Given the description of an element on the screen output the (x, y) to click on. 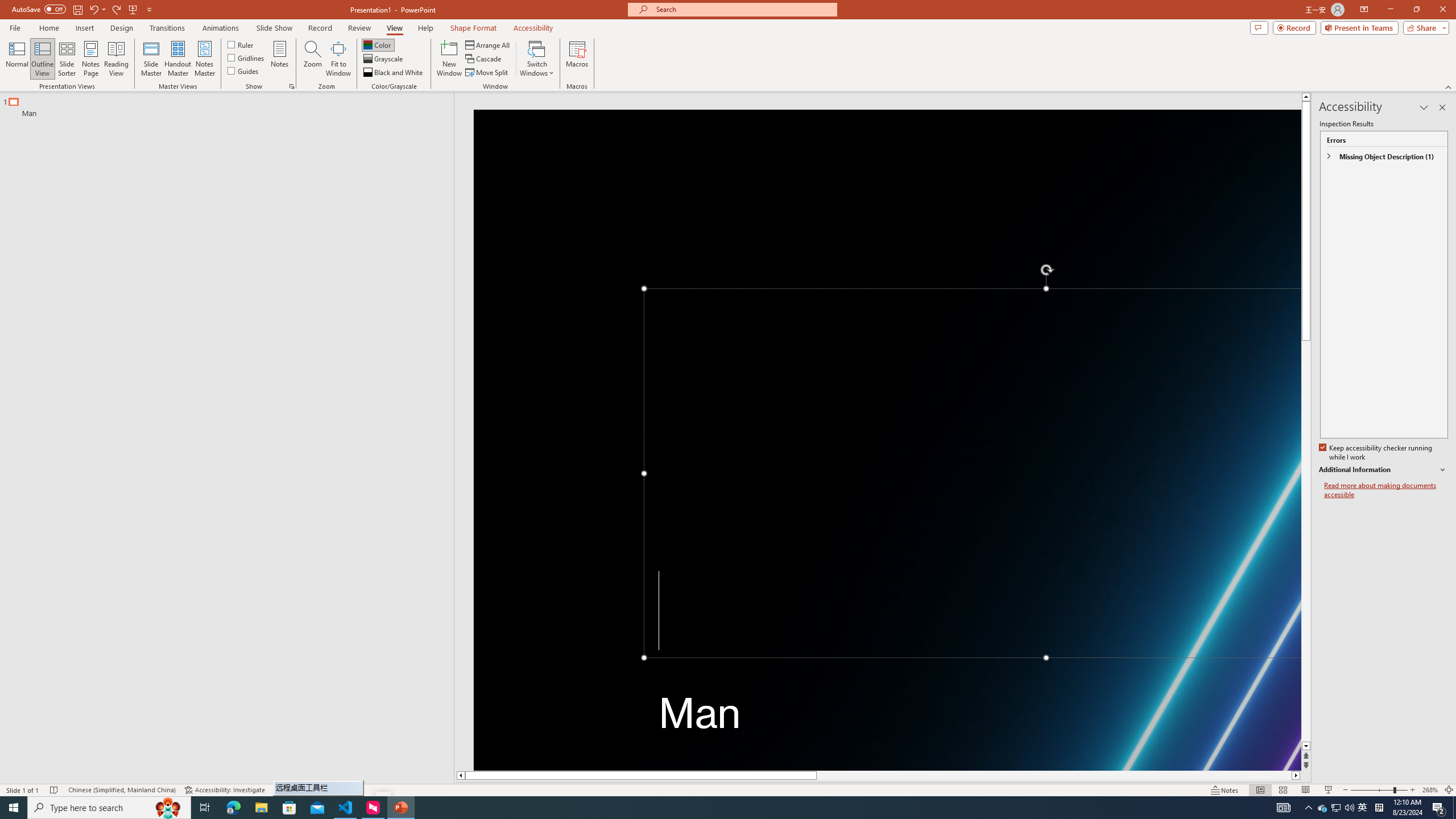
Neon laser lights aligned to form a triangle (887, 439)
New Window (449, 58)
Arrange All (488, 44)
Notes Master (204, 58)
Color (377, 44)
Move Split (487, 72)
